Given the description of an element on the screen output the (x, y) to click on. 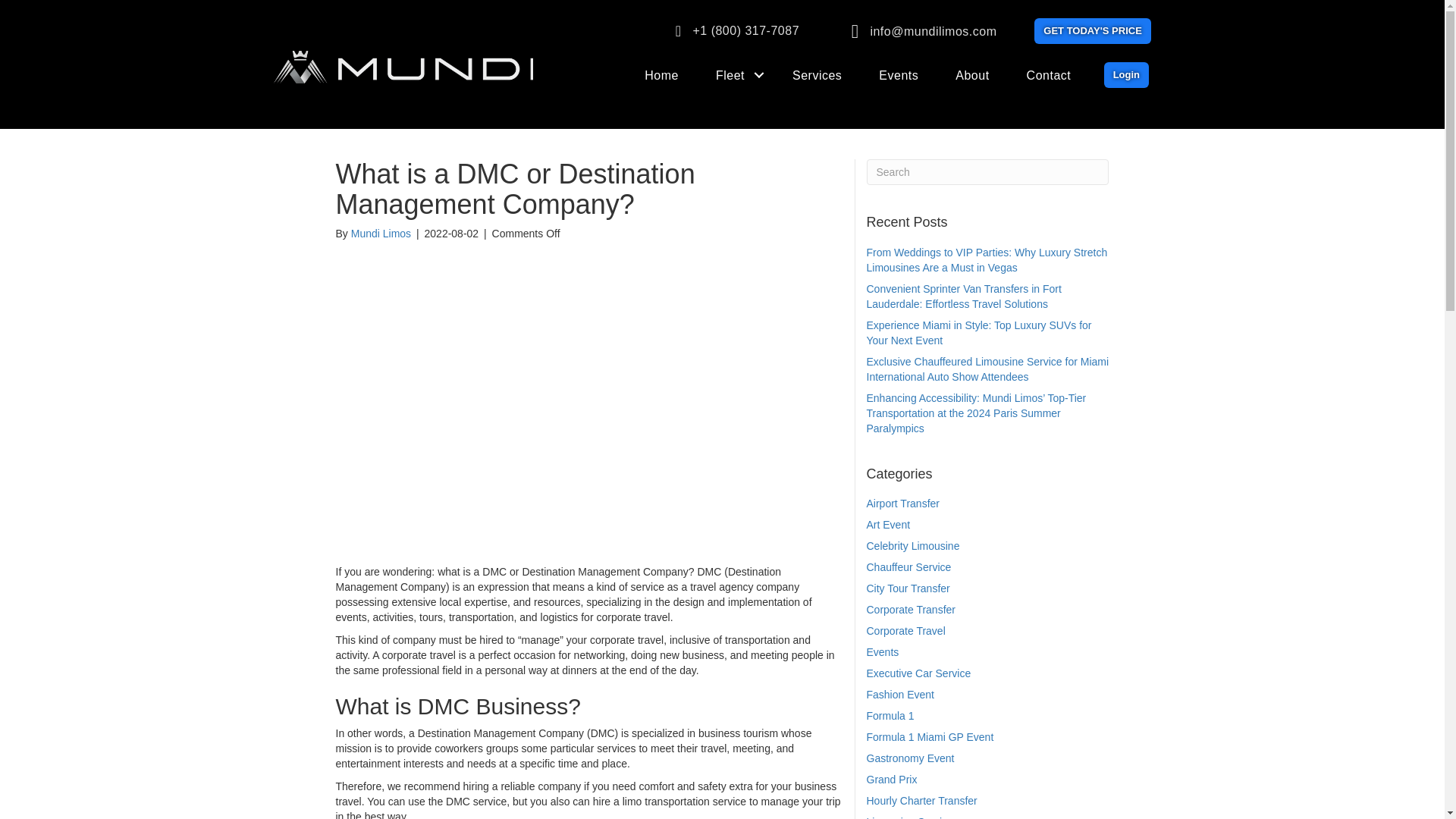
Fleet (735, 75)
Click Here (1125, 74)
Mundi Limos (380, 233)
Click Here (1092, 31)
Corporate Transfer (910, 609)
Events Mundi Limos (898, 75)
Events (898, 75)
Chauffeur Service (908, 567)
Fashion Event (900, 694)
